Given the description of an element on the screen output the (x, y) to click on. 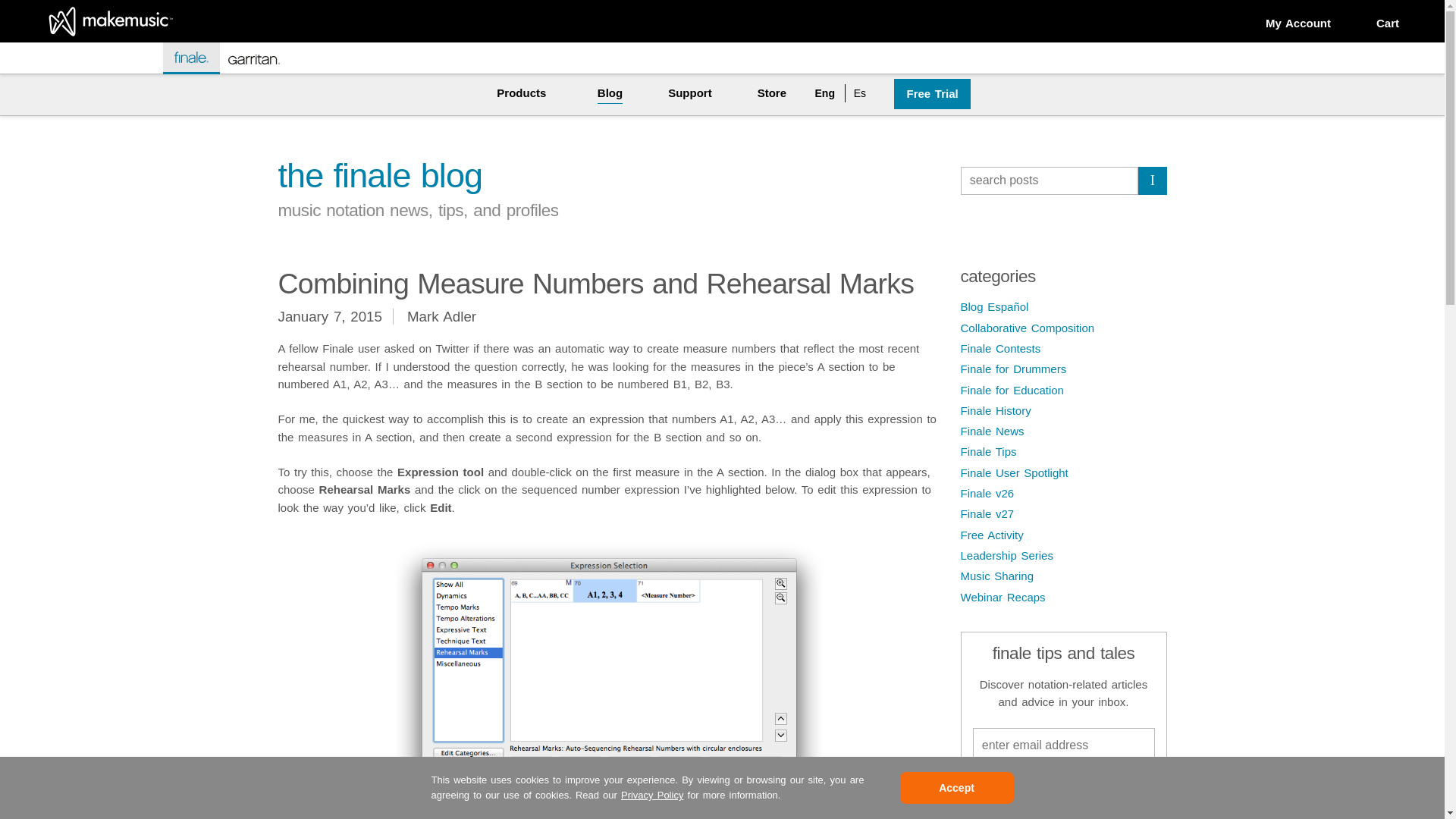
eng (825, 93)
es (856, 93)
Es (856, 93)
Store (771, 94)
Cart (1387, 23)
Free Trial (931, 93)
My Account (1297, 23)
Support (689, 94)
MakeMusic Home Page (110, 28)
Products (521, 94)
Eng (825, 93)
Search for blog posts: (1048, 181)
Blog (609, 94)
